Given the description of an element on the screen output the (x, y) to click on. 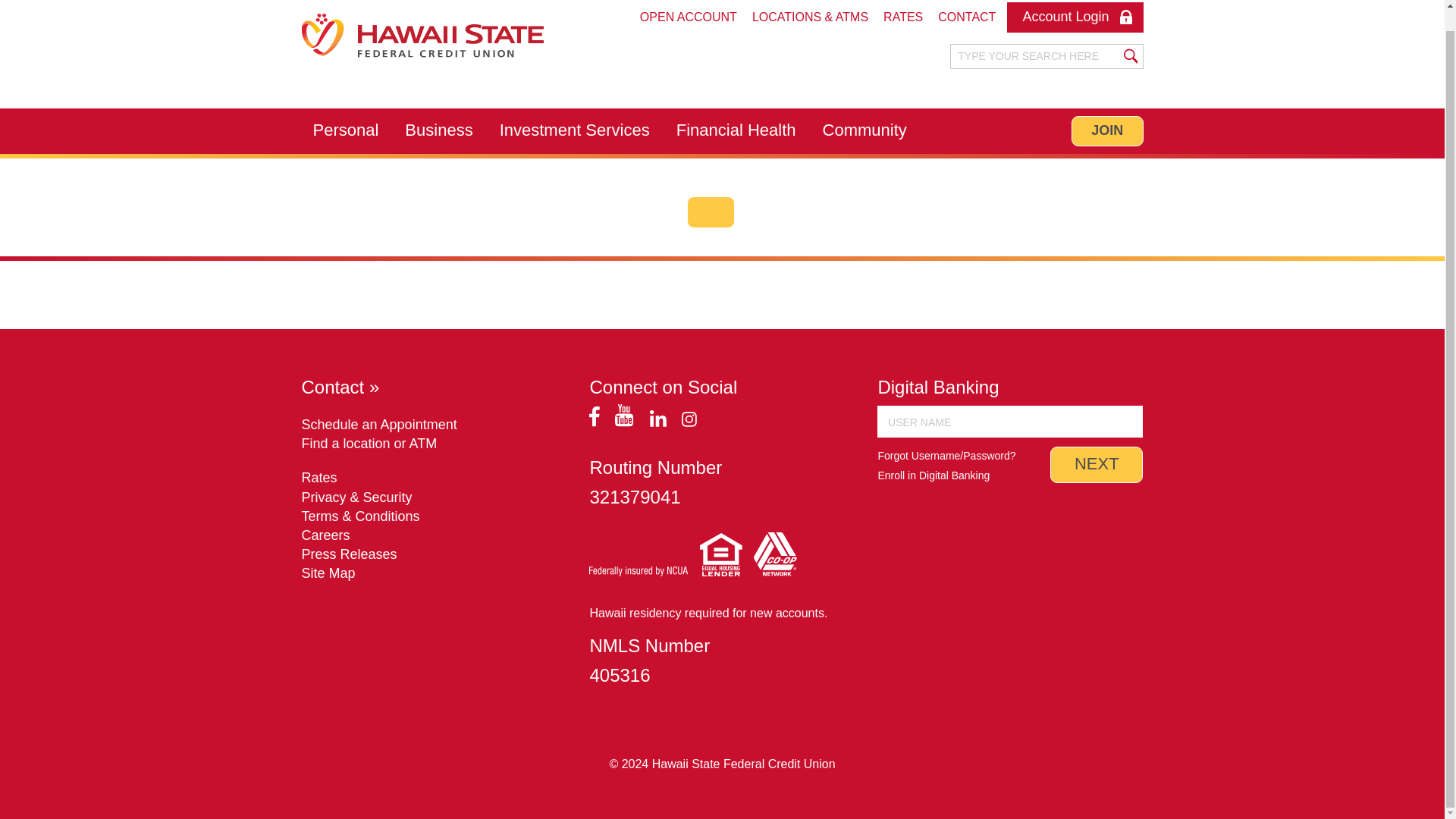
Relationship Package (378, 162)
Site Search (1036, 56)
Credit Cards (350, 162)
Digital Banking (772, 162)
Digital Wallet (766, 162)
Personal (345, 130)
CONTACT (966, 16)
Checking (341, 162)
Account Login (1074, 17)
RATES (903, 16)
Motorcycle Loans (534, 162)
Retirement (345, 162)
Personal Loans (528, 162)
Business (438, 130)
Investment Services (574, 130)
